Given the description of an element on the screen output the (x, y) to click on. 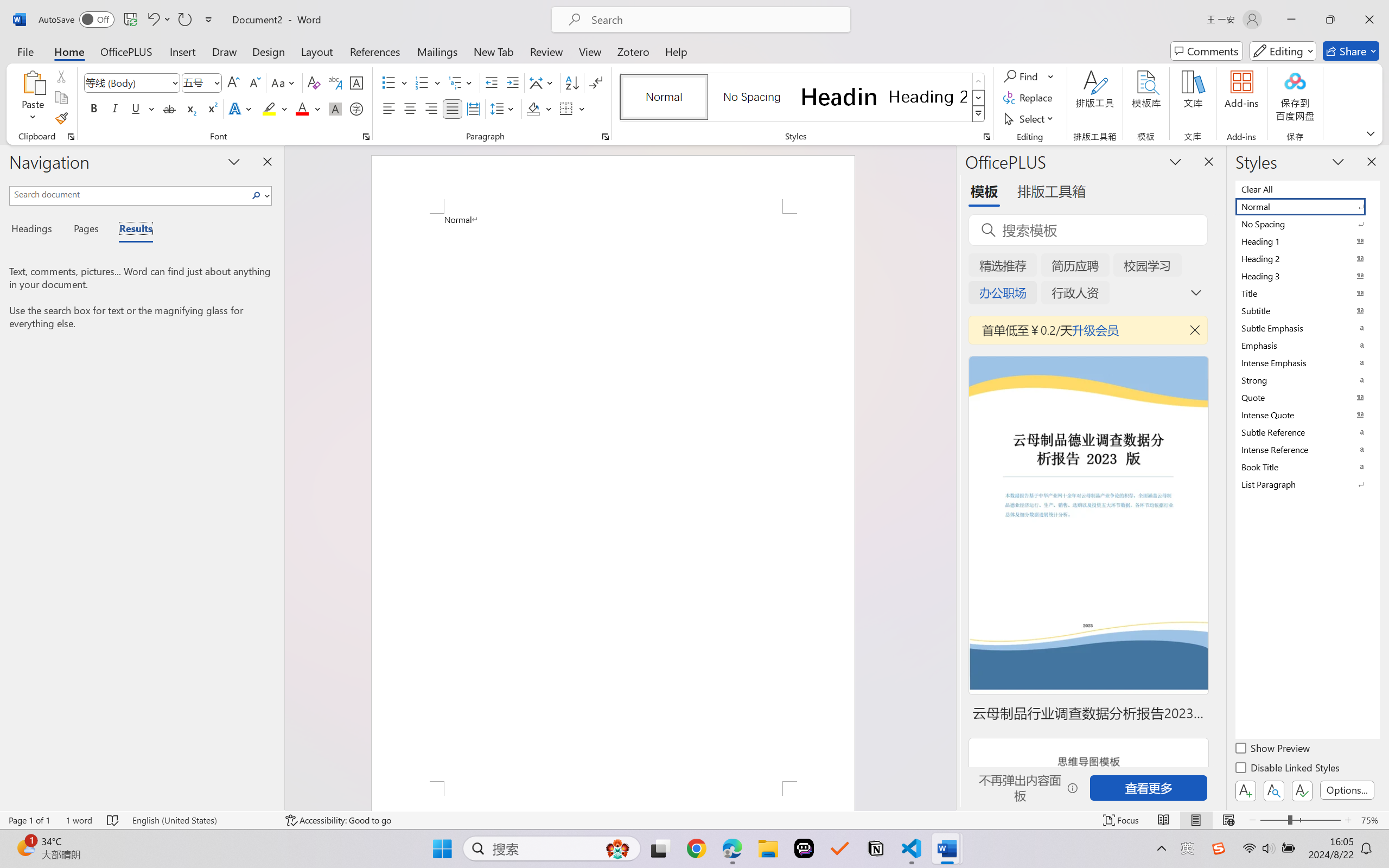
Shading RGB(0, 0, 0) (533, 108)
Superscript (210, 108)
Pages (85, 229)
Justify (452, 108)
Underline (142, 108)
Font Size (196, 82)
Increase Indent (512, 82)
Paste (33, 81)
Font Size (201, 82)
OfficePLUS (126, 51)
Asian Layout (542, 82)
Review (546, 51)
Font Color Red (302, 108)
